Given the description of an element on the screen output the (x, y) to click on. 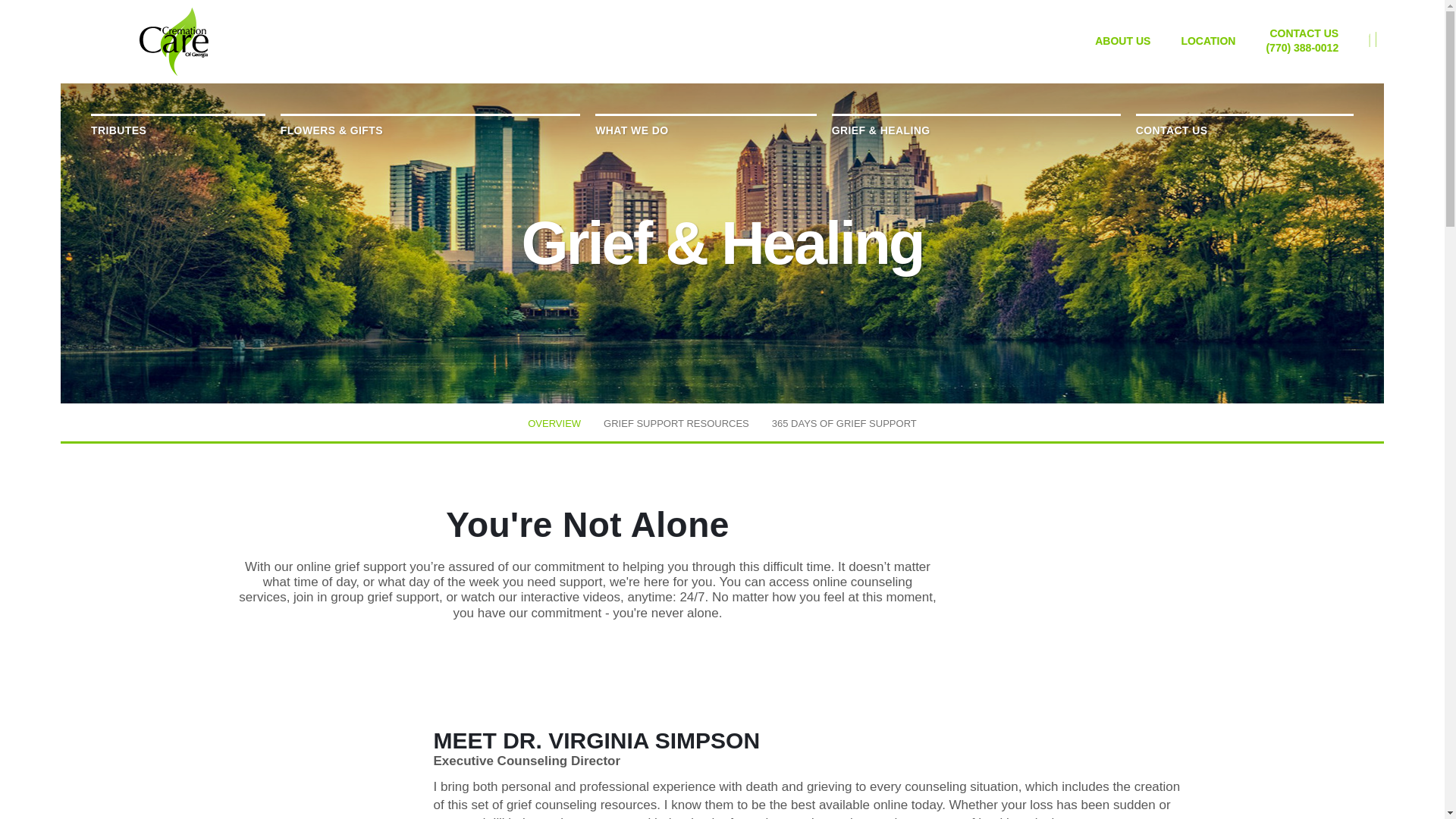
CONTACT US (1303, 32)
WHAT WE DO (705, 129)
Skip to content (32, 15)
365 DAYS OF GRIEF SUPPORT (844, 423)
CONTACT US (1244, 129)
TRIBUTES (177, 129)
OVERVIEW (554, 423)
ABOUT US (1122, 40)
LOCATION (1207, 40)
GRIEF SUPPORT RESOURCES (676, 423)
